Given the description of an element on the screen output the (x, y) to click on. 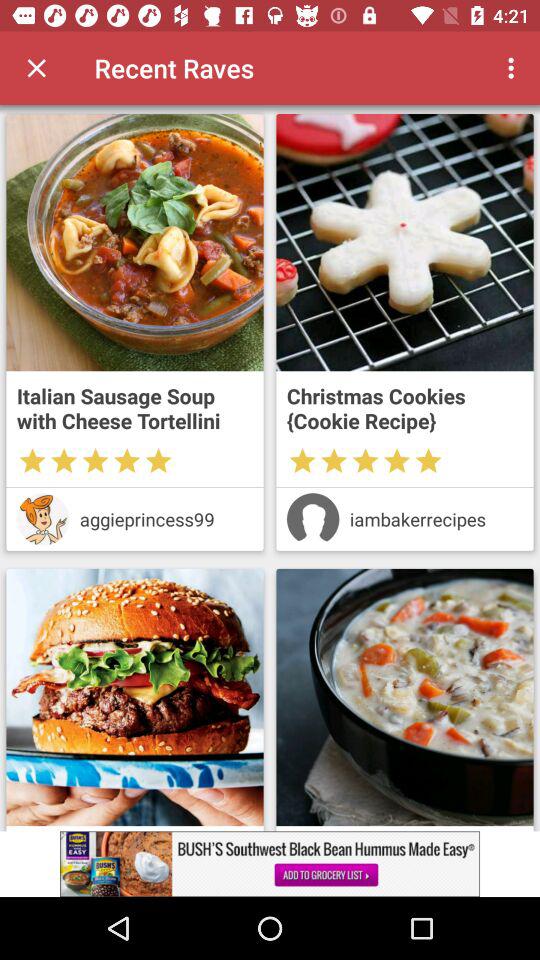
view details of the user (312, 519)
